Given the description of an element on the screen output the (x, y) to click on. 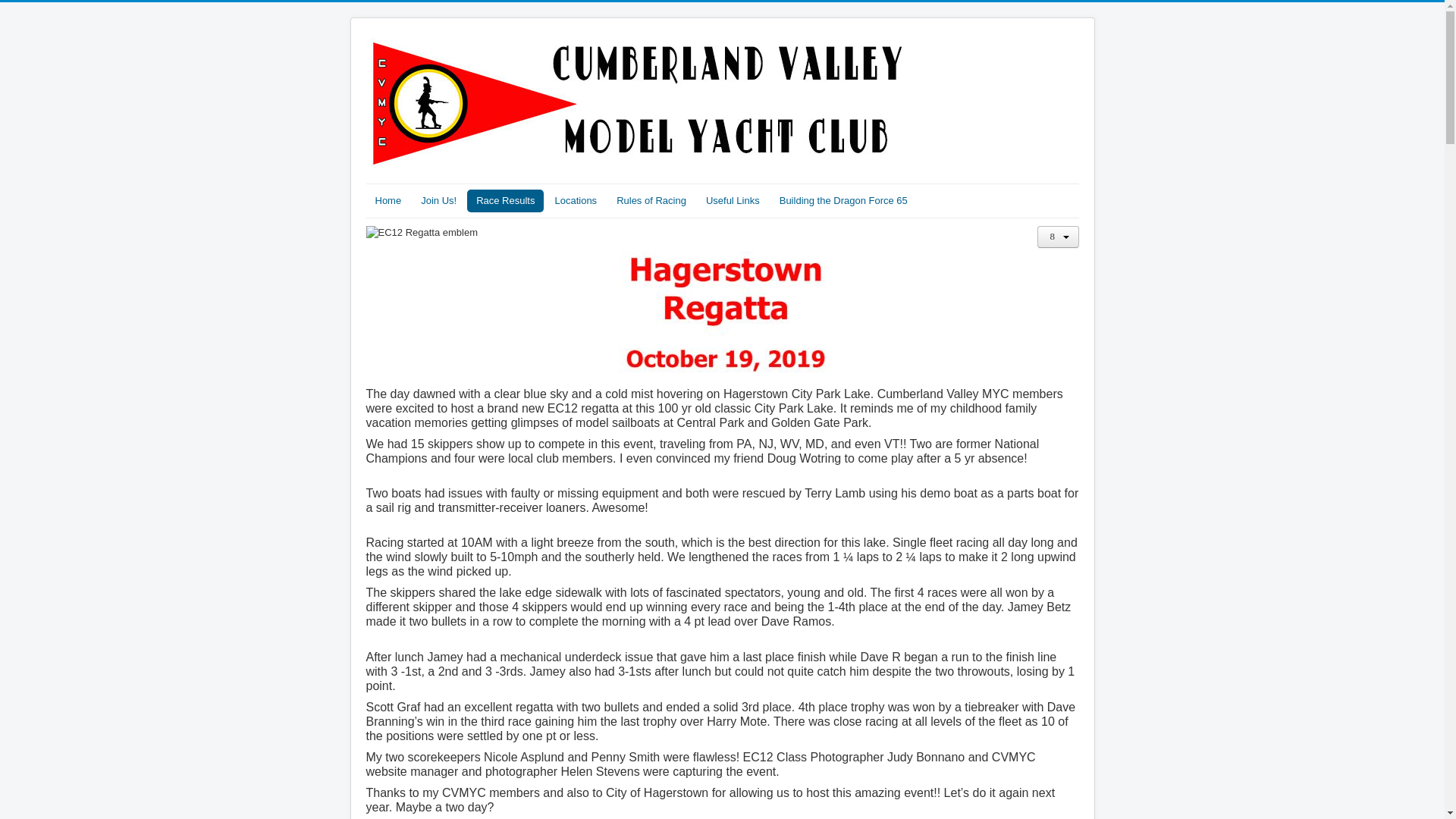
Building the Dragon Force 65 (843, 200)
Race Results (505, 200)
Rules of Racing (651, 200)
Home (387, 200)
Useful Links (732, 200)
Join Us! (438, 200)
Locations (574, 200)
